Given the description of an element on the screen output the (x, y) to click on. 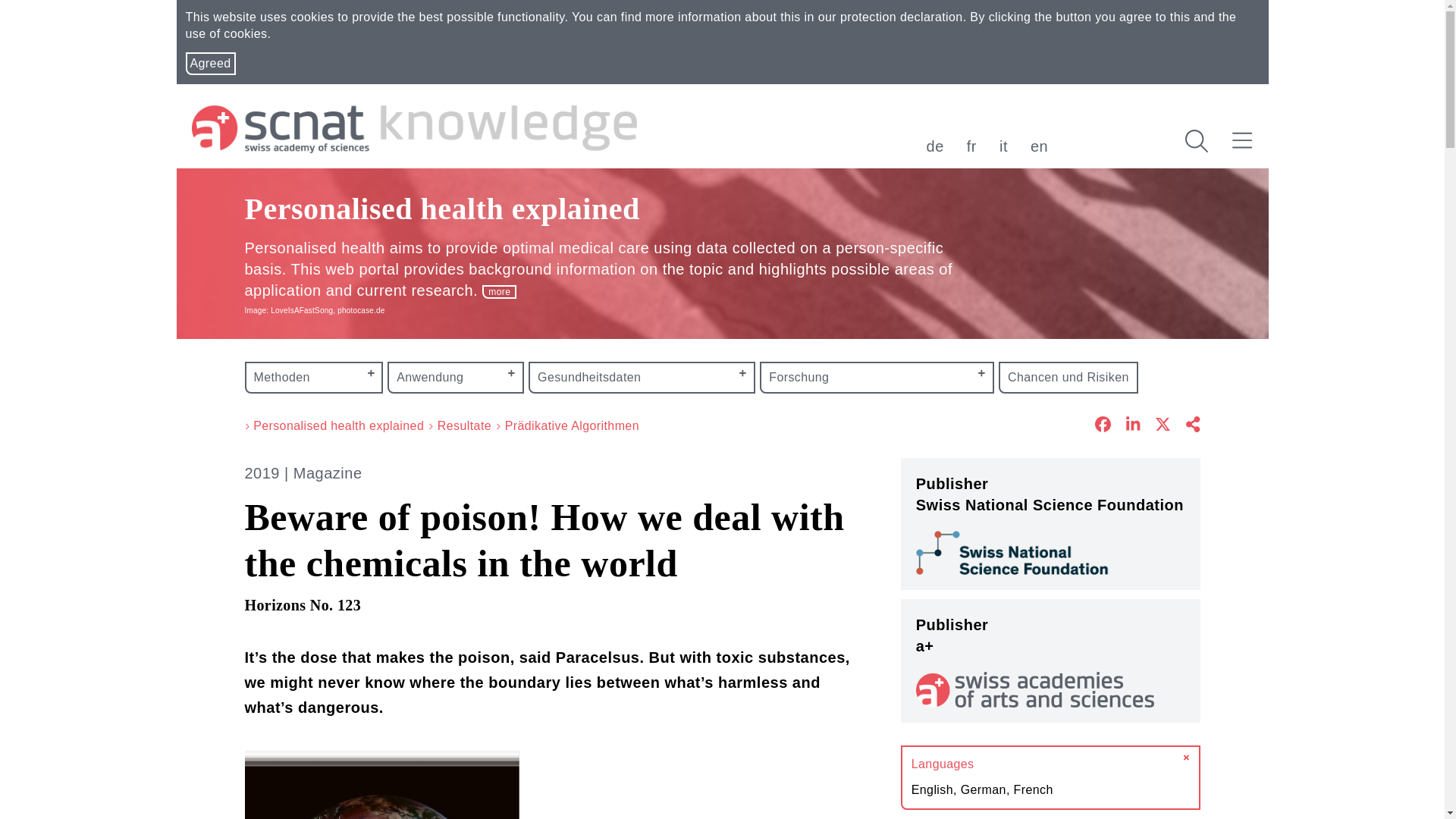
Gesundheitsdaten (641, 377)
de (934, 146)
protection declaration (901, 16)
Agreed (209, 63)
en (1039, 146)
Horizonte Nr. 123 (381, 785)
Forschung (876, 377)
Anwendung (455, 377)
Methoden (313, 377)
more (498, 291)
Personalised health explained (441, 214)
